Given the description of an element on the screen output the (x, y) to click on. 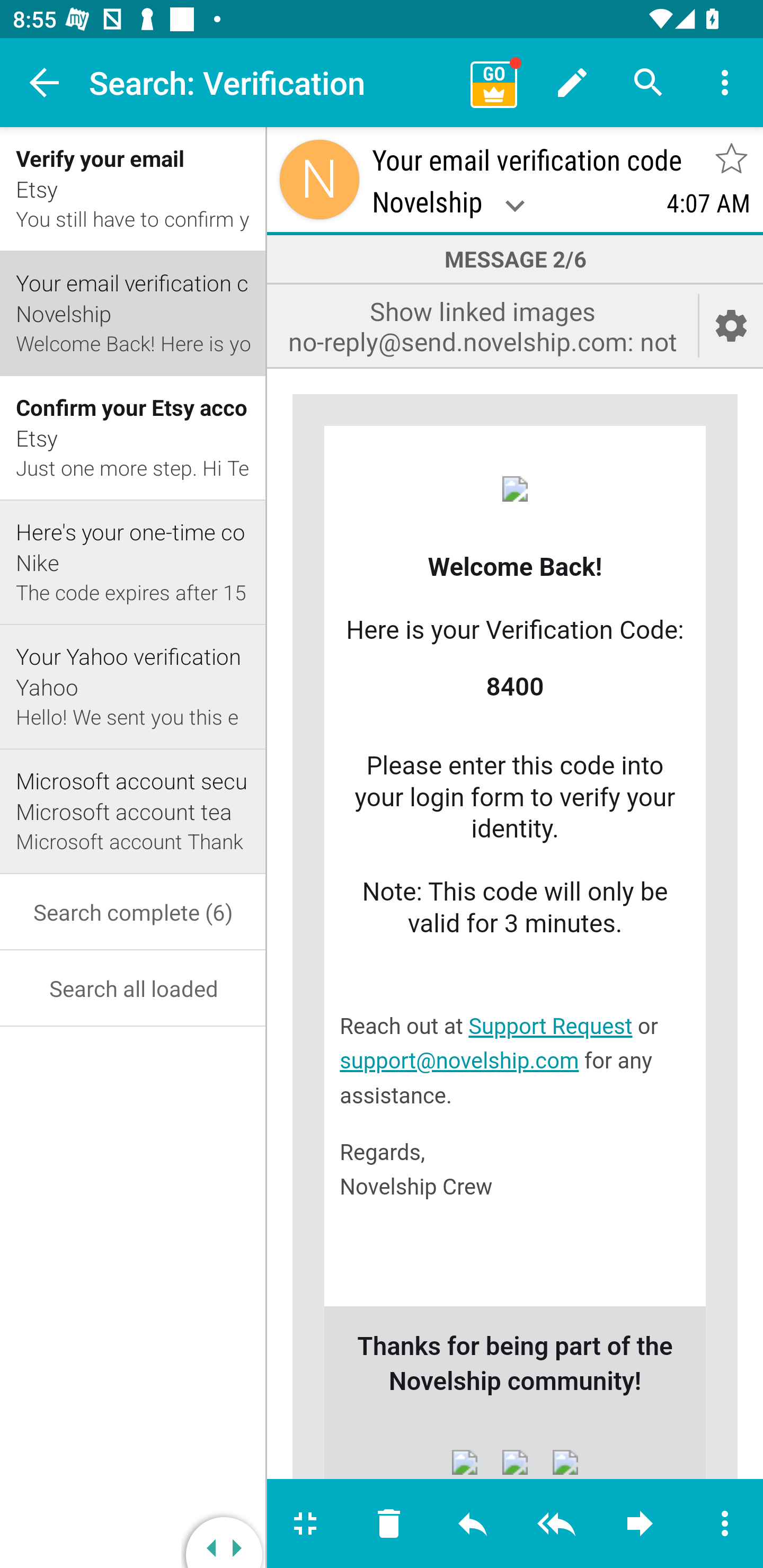
Navigate up (44, 82)
New message (572, 82)
Search (648, 82)
More options (724, 81)
Sender contact button (319, 179)
Account setup (731, 324)
Search complete (6) (133, 911)
Search all loaded (133, 988)
Enable full screen (307, 1523)
Move to Deleted (389, 1523)
Reply (472, 1523)
Reply all (556, 1523)
Forward (640, 1523)
More options (722, 1522)
